Given the description of an element on the screen output the (x, y) to click on. 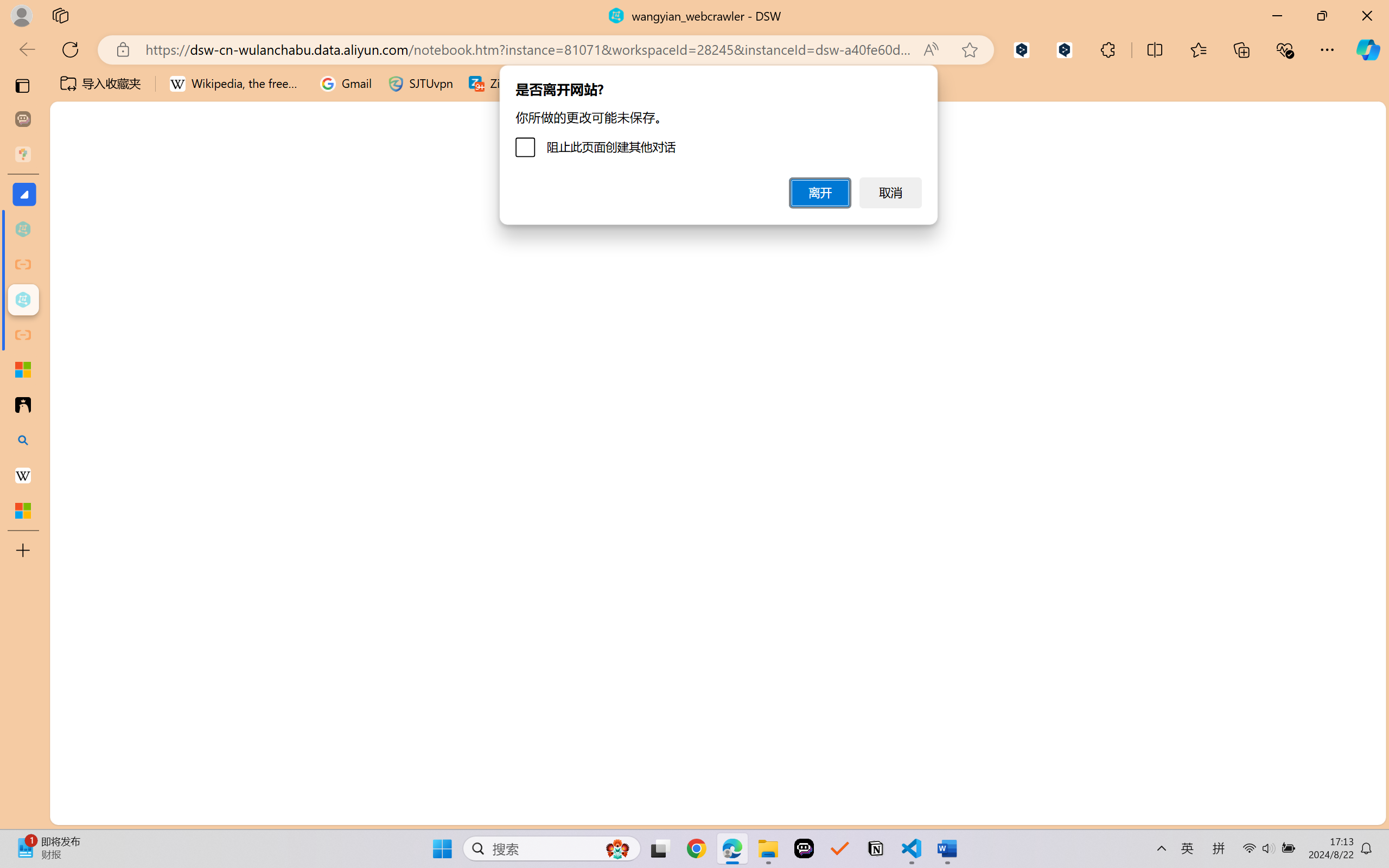
Czech (detected) (1271, 161)
Dutch (1271, 828)
